Given the description of an element on the screen output the (x, y) to click on. 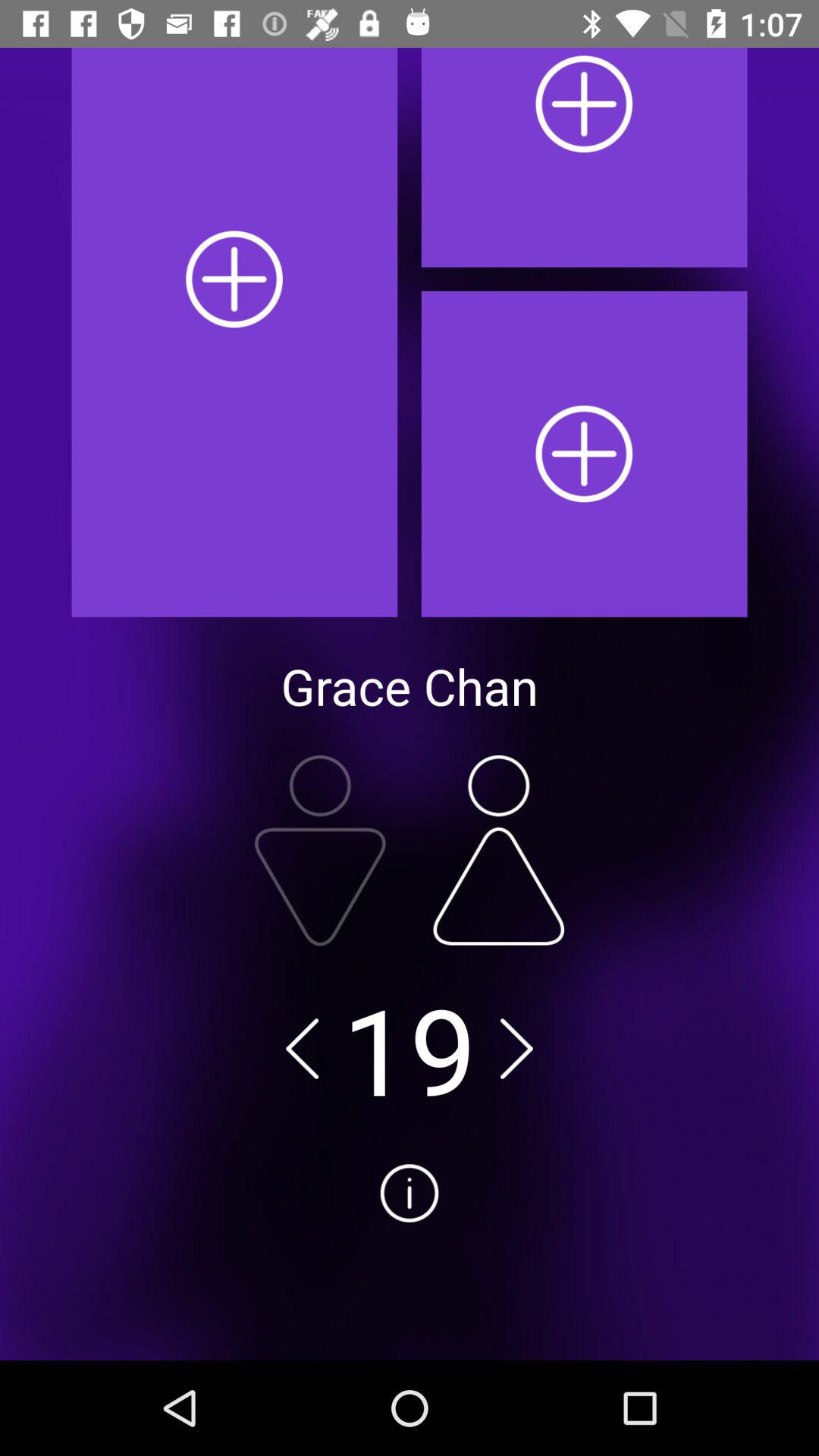
go back (302, 1048)
